Given the description of an element on the screen output the (x, y) to click on. 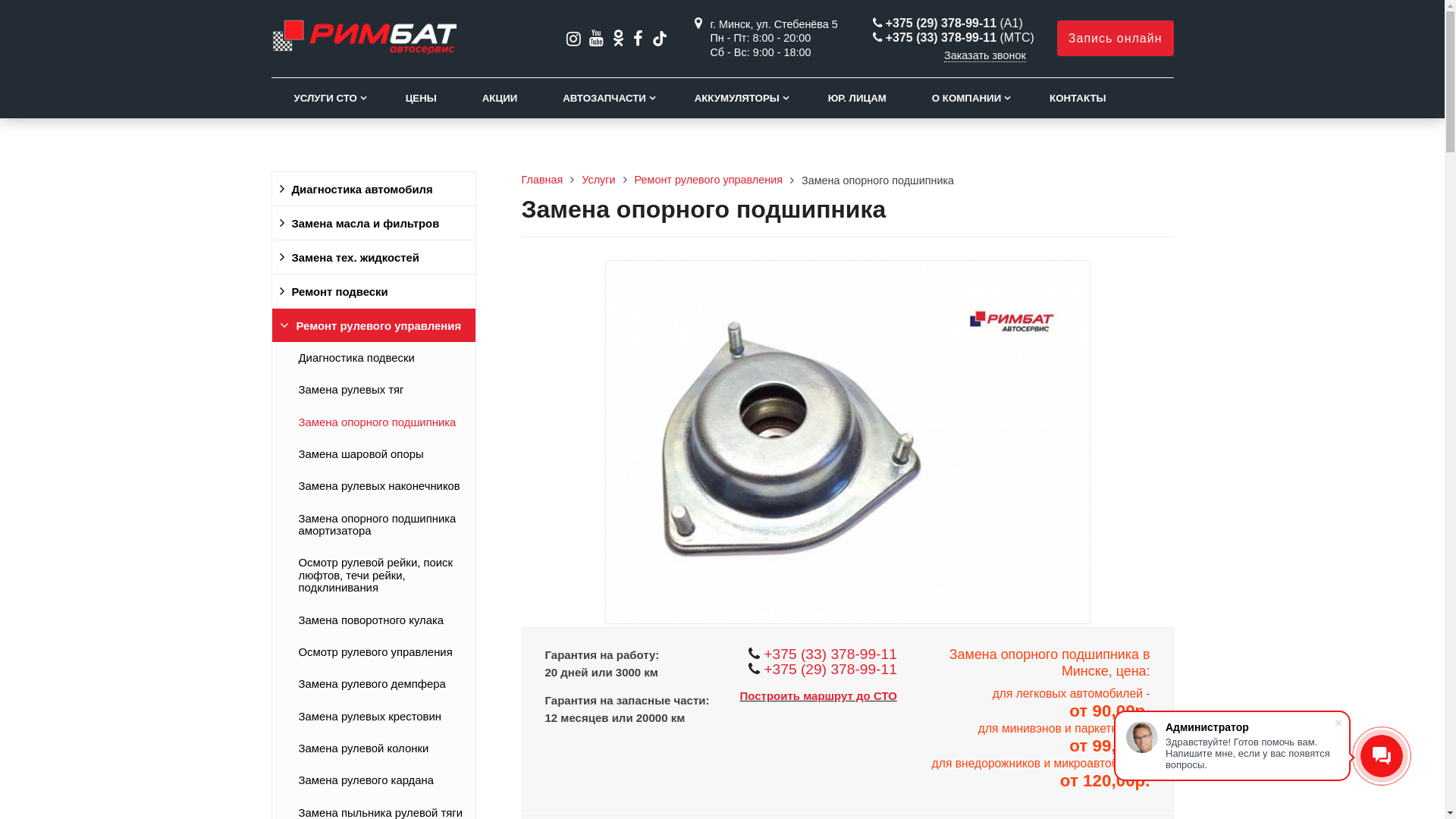
+375 (33) 378-99-11 Element type: text (940, 37)
+375 (29) 378-99-11 Element type: text (940, 22)
+375 (33) 378-99-11 Element type: text (829, 654)
+375 (29) 378-99-11 Element type: text (829, 669)
+375 (29) 378-99-11 (A1) Element type: text (947, 22)
